Given the description of an element on the screen output the (x, y) to click on. 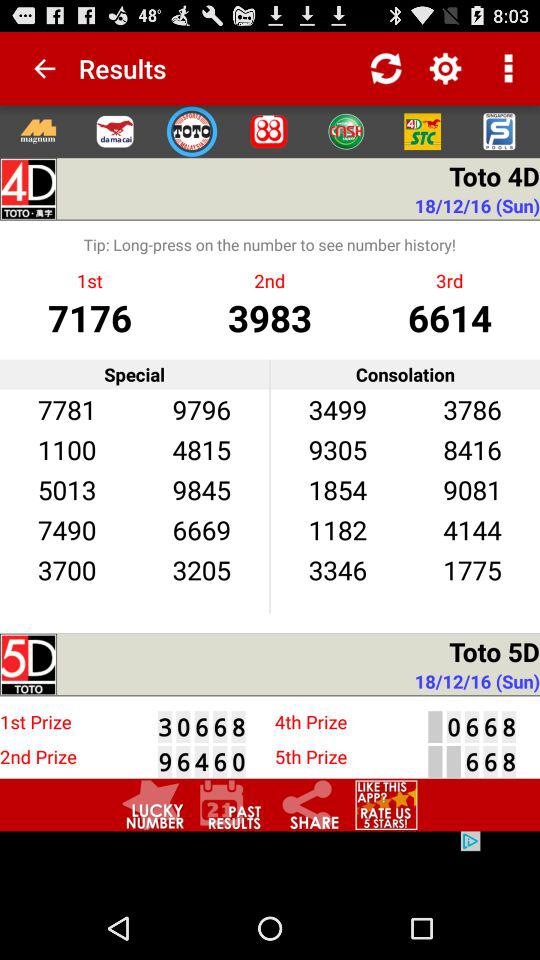
open bottom page advertisement (270, 864)
